Given the description of an element on the screen output the (x, y) to click on. 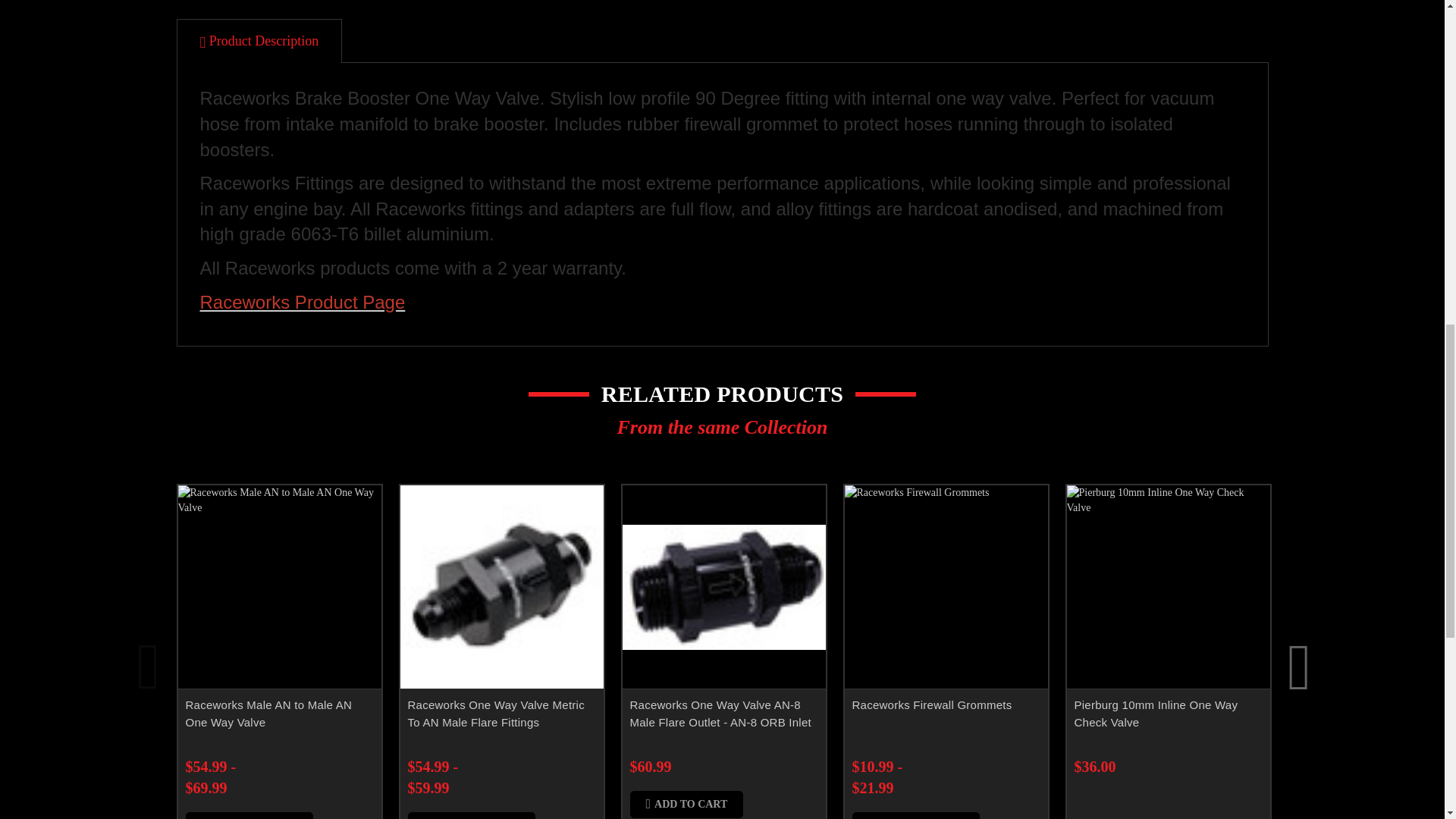
Raceworks One Way Valve Metric To AN Male Flare Fittings (502, 586)
Raceworks Male AN to Male AN One Way Valve (278, 586)
